Given the description of an element on the screen output the (x, y) to click on. 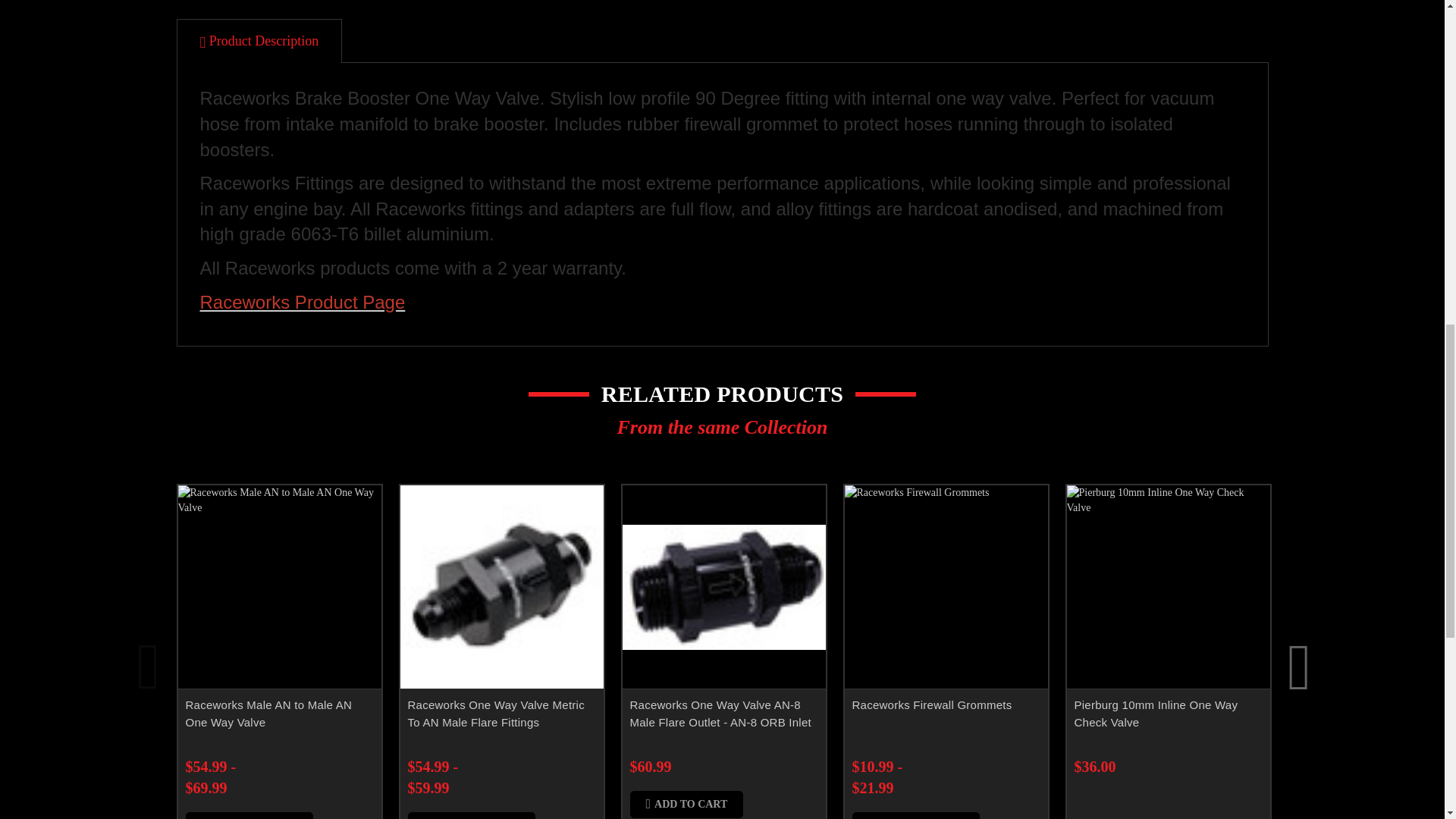
Raceworks One Way Valve Metric To AN Male Flare Fittings (502, 586)
Raceworks Male AN to Male AN One Way Valve (278, 586)
